Given the description of an element on the screen output the (x, y) to click on. 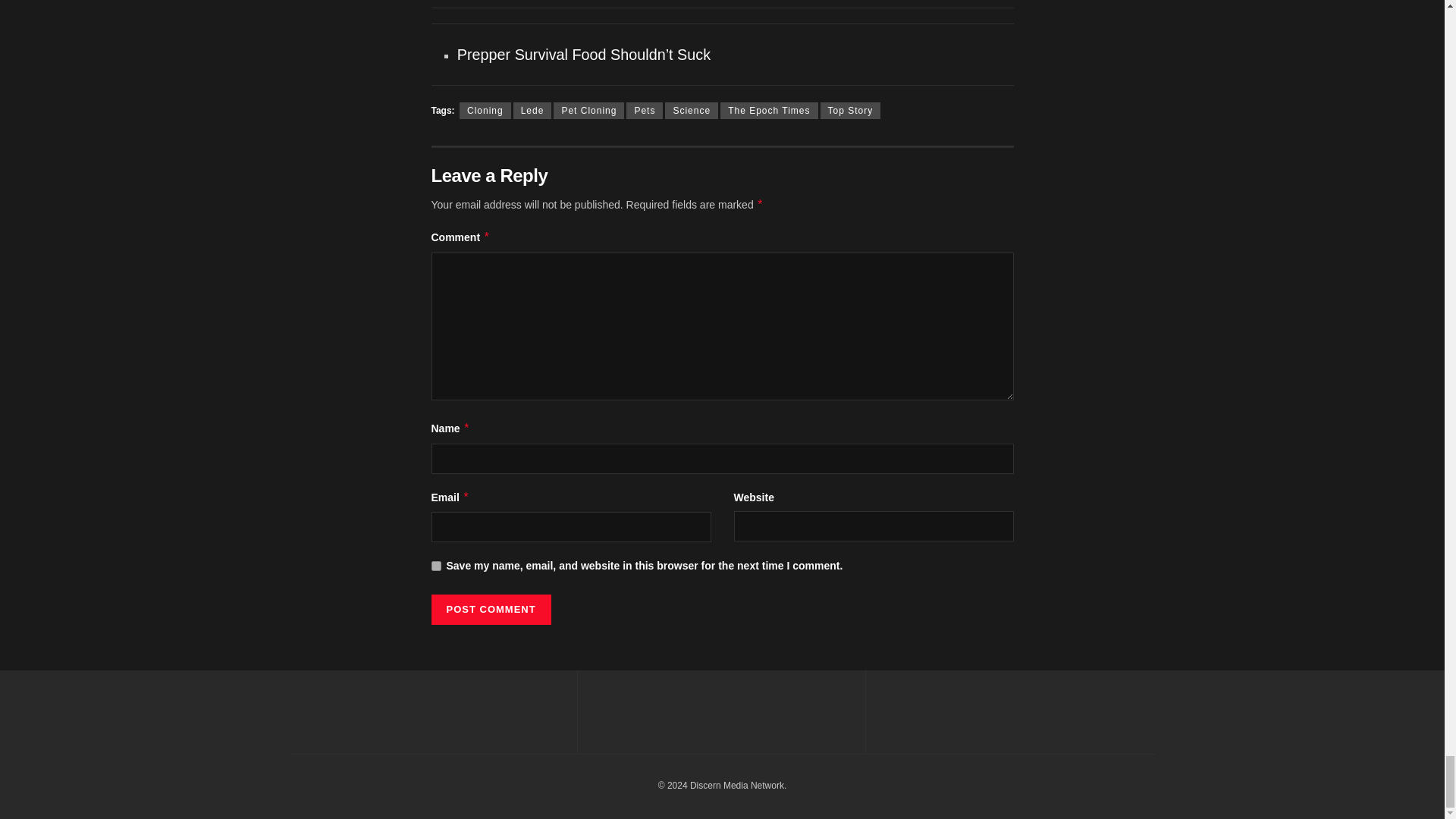
Post Comment (490, 609)
yes (435, 565)
